Given the description of an element on the screen output the (x, y) to click on. 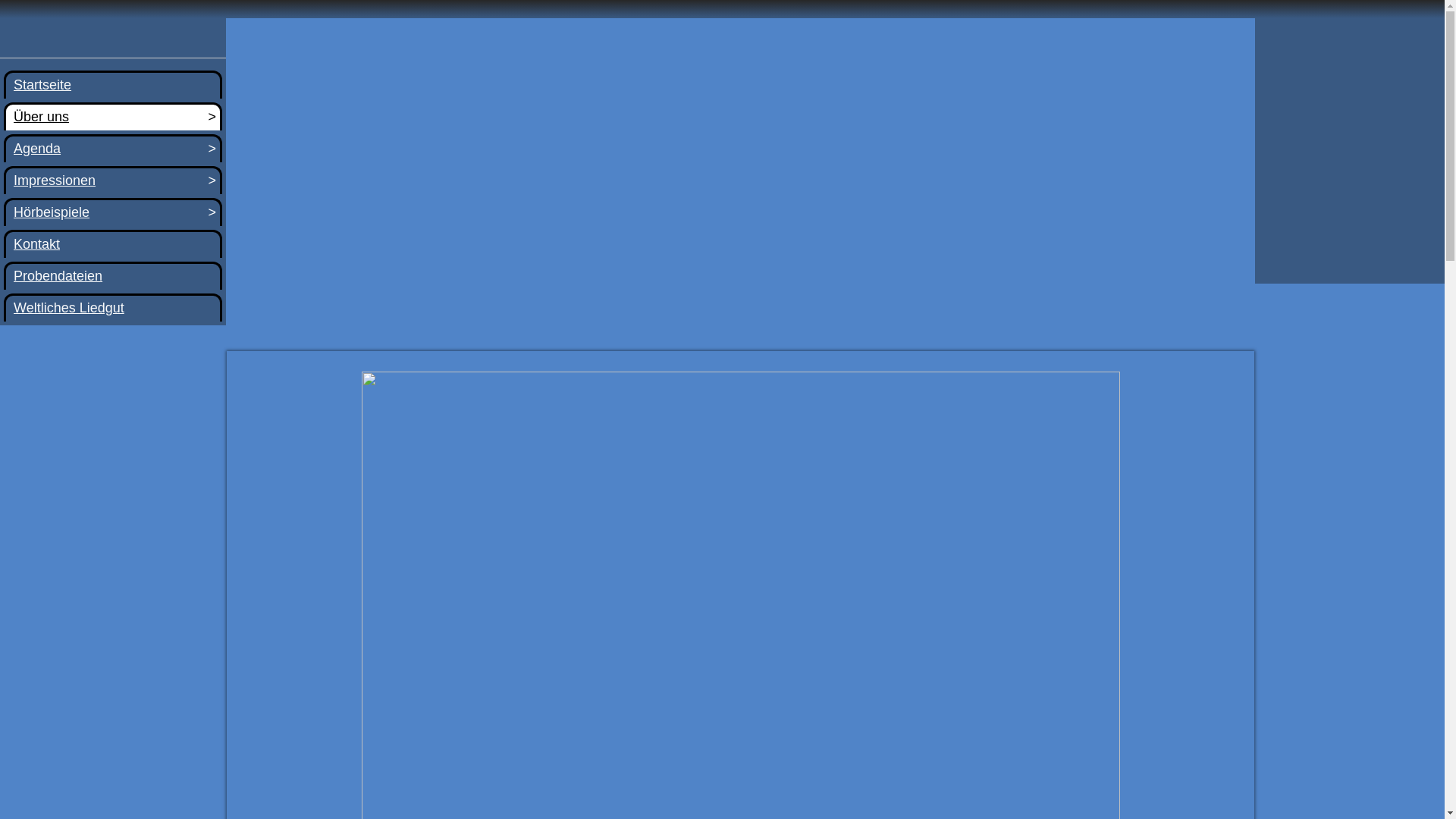
Startseite Element type: text (112, 84)
>
Impressionen Element type: text (112, 180)
Weltliches Liedgut Element type: text (112, 307)
>
Agenda Element type: text (112, 148)
Probendateien Element type: text (112, 275)
Kontakt Element type: text (112, 243)
